Given the description of an element on the screen output the (x, y) to click on. 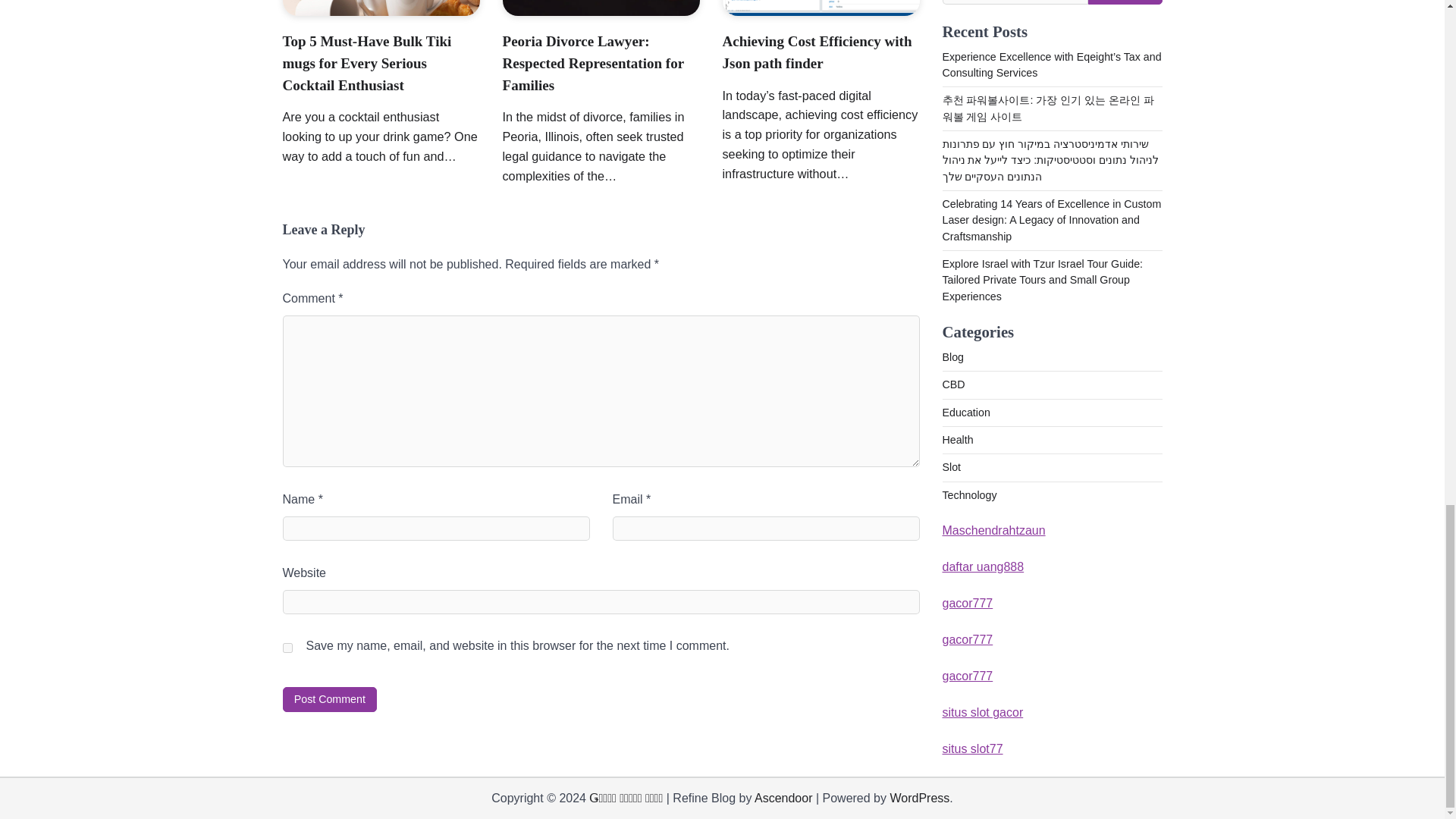
Achieving Cost Efficiency with Json path finder (816, 52)
Post Comment (329, 699)
Post Comment (329, 699)
yes (287, 647)
Peoria Divorce Lawyer: Respected Representation for Families (593, 62)
